Given the description of an element on the screen output the (x, y) to click on. 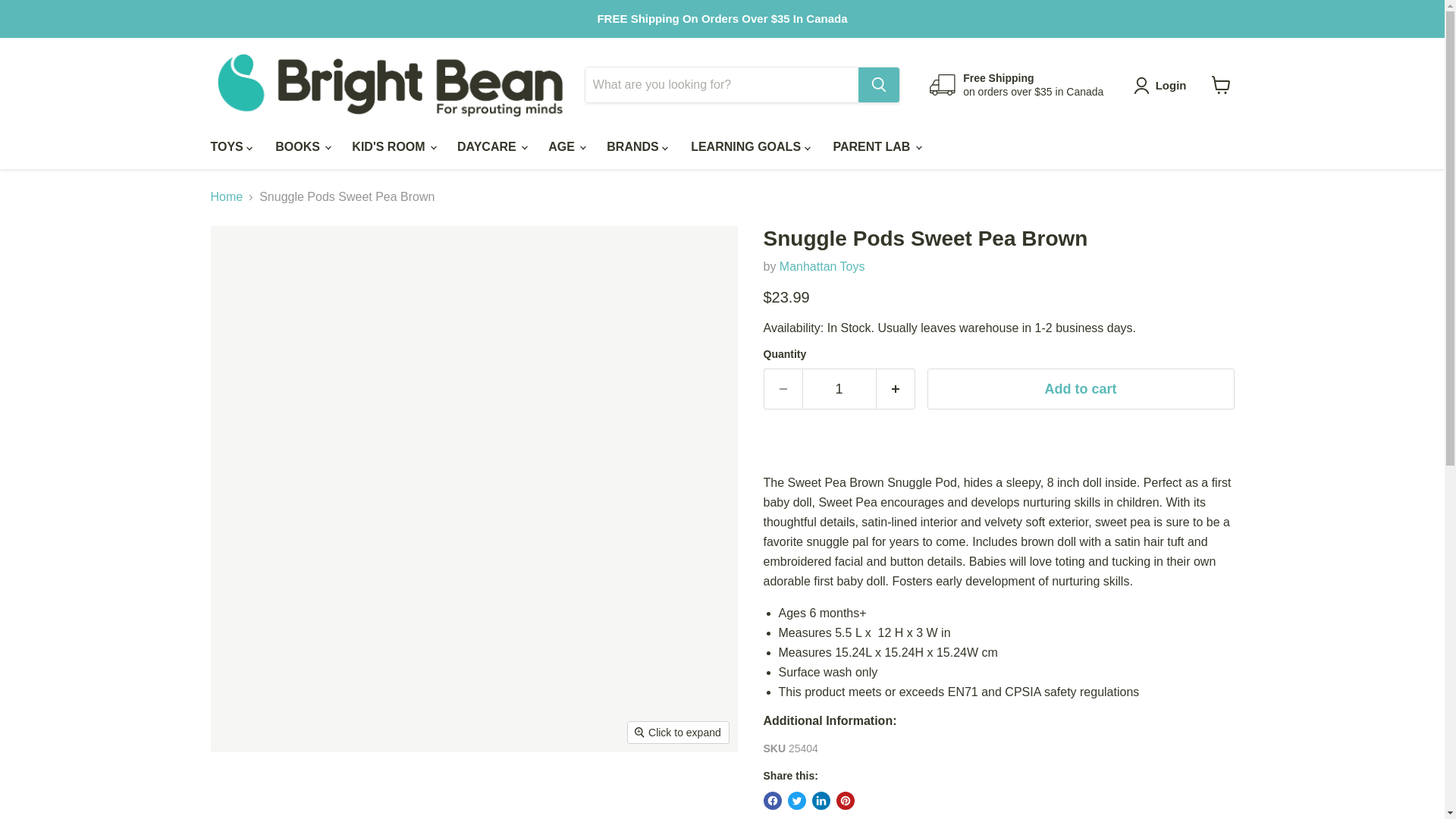
View cart (1221, 84)
Login (1163, 85)
Manhattan Toys (821, 266)
1 (839, 389)
